Given the description of an element on the screen output the (x, y) to click on. 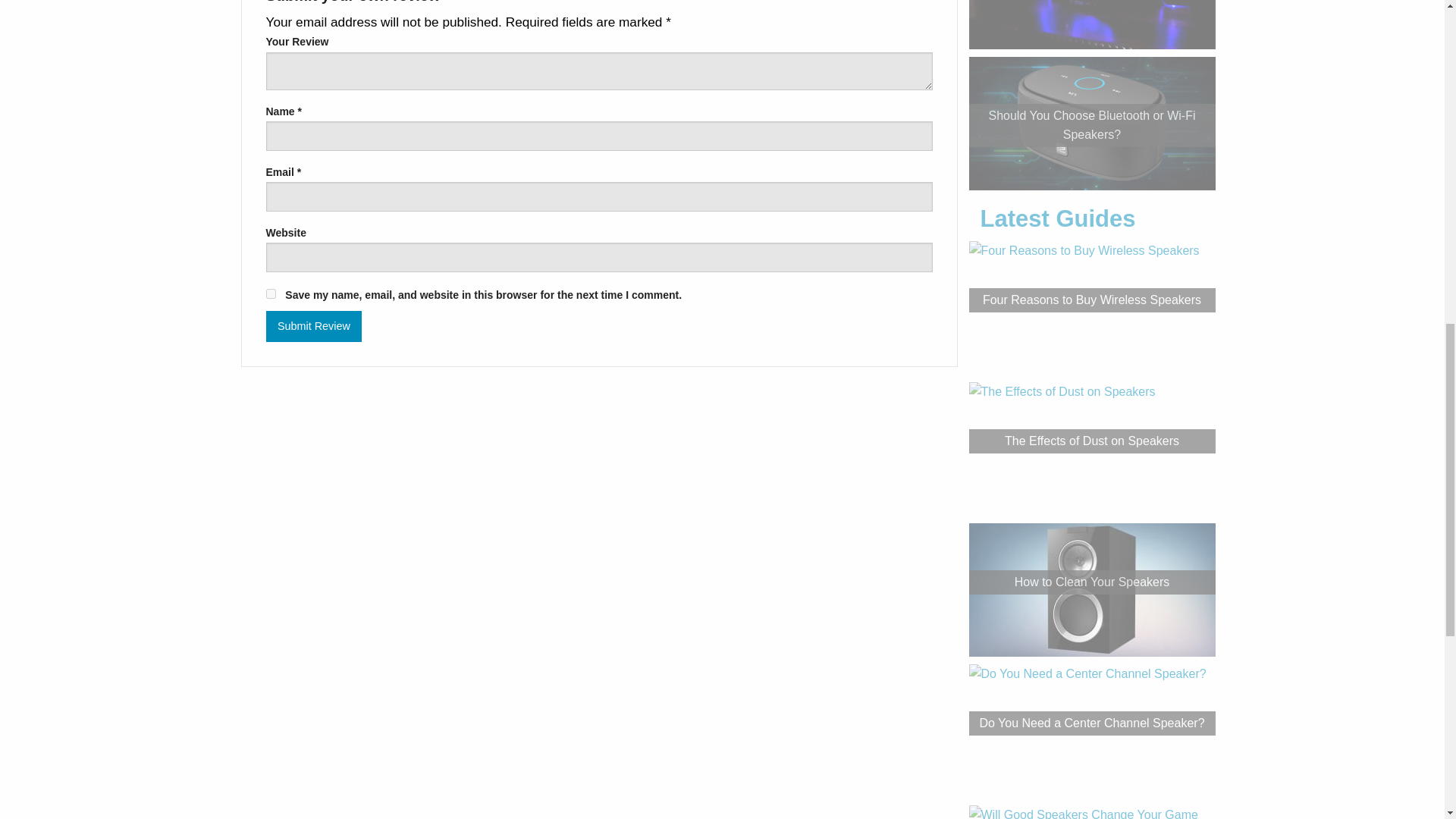
Submit Review (312, 326)
Submit Review (312, 326)
yes (269, 293)
